Given the description of an element on the screen output the (x, y) to click on. 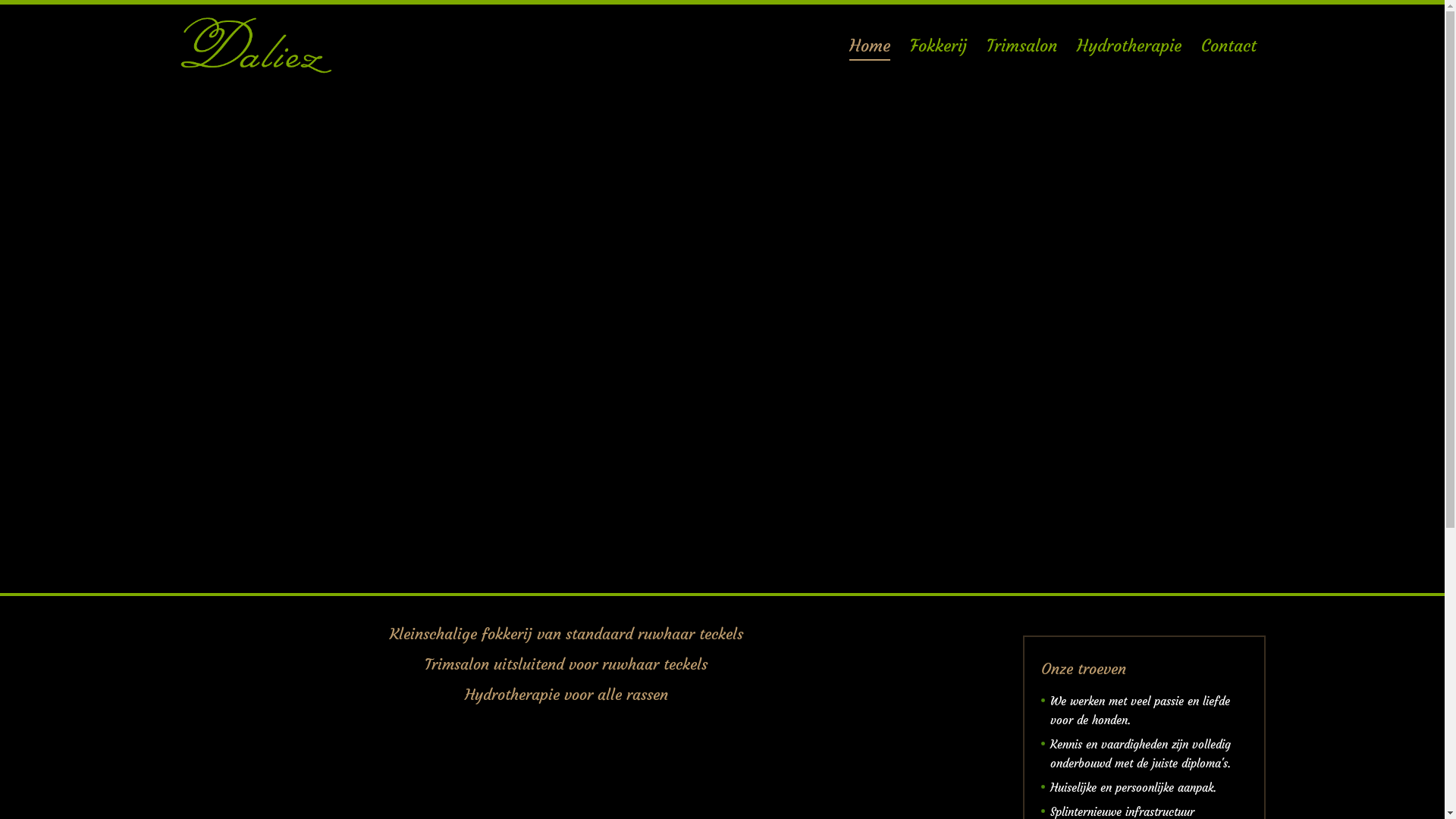
Home Element type: text (869, 44)
Fokkerij Element type: text (938, 44)
Contact Element type: text (1228, 44)
Hydrotherapie Element type: text (1128, 44)
Trimsalon Element type: text (1021, 44)
